Given the description of an element on the screen output the (x, y) to click on. 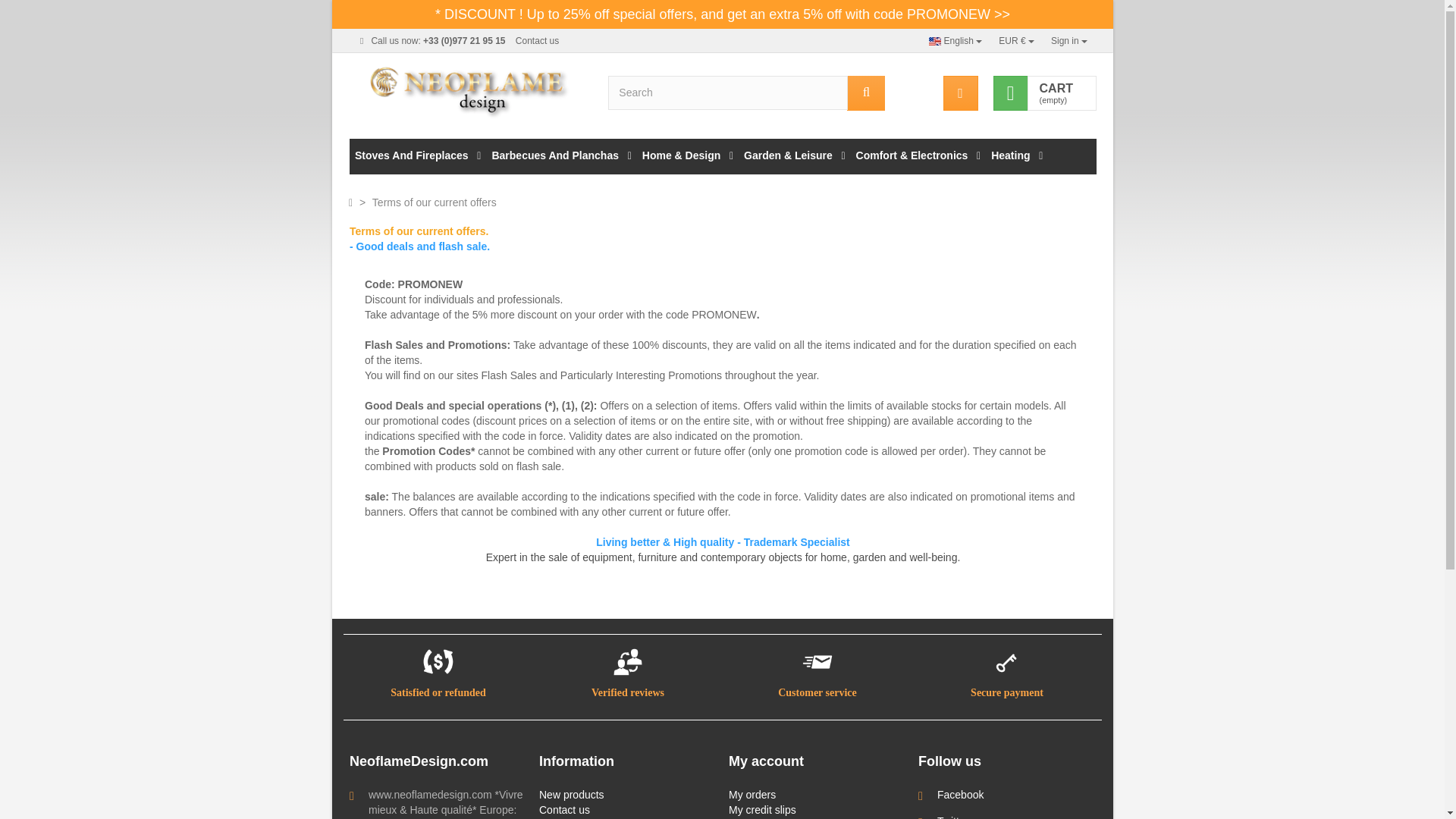
View my shopping cart (1009, 93)
Contact us (537, 40)
Barbecues And Planchas (561, 156)
Stoves And Fireplaces (417, 156)
English (955, 40)
Contact us (537, 40)
My Account (960, 93)
Sign in (1069, 40)
NeoflameDesign.com (470, 92)
